Given the description of an element on the screen output the (x, y) to click on. 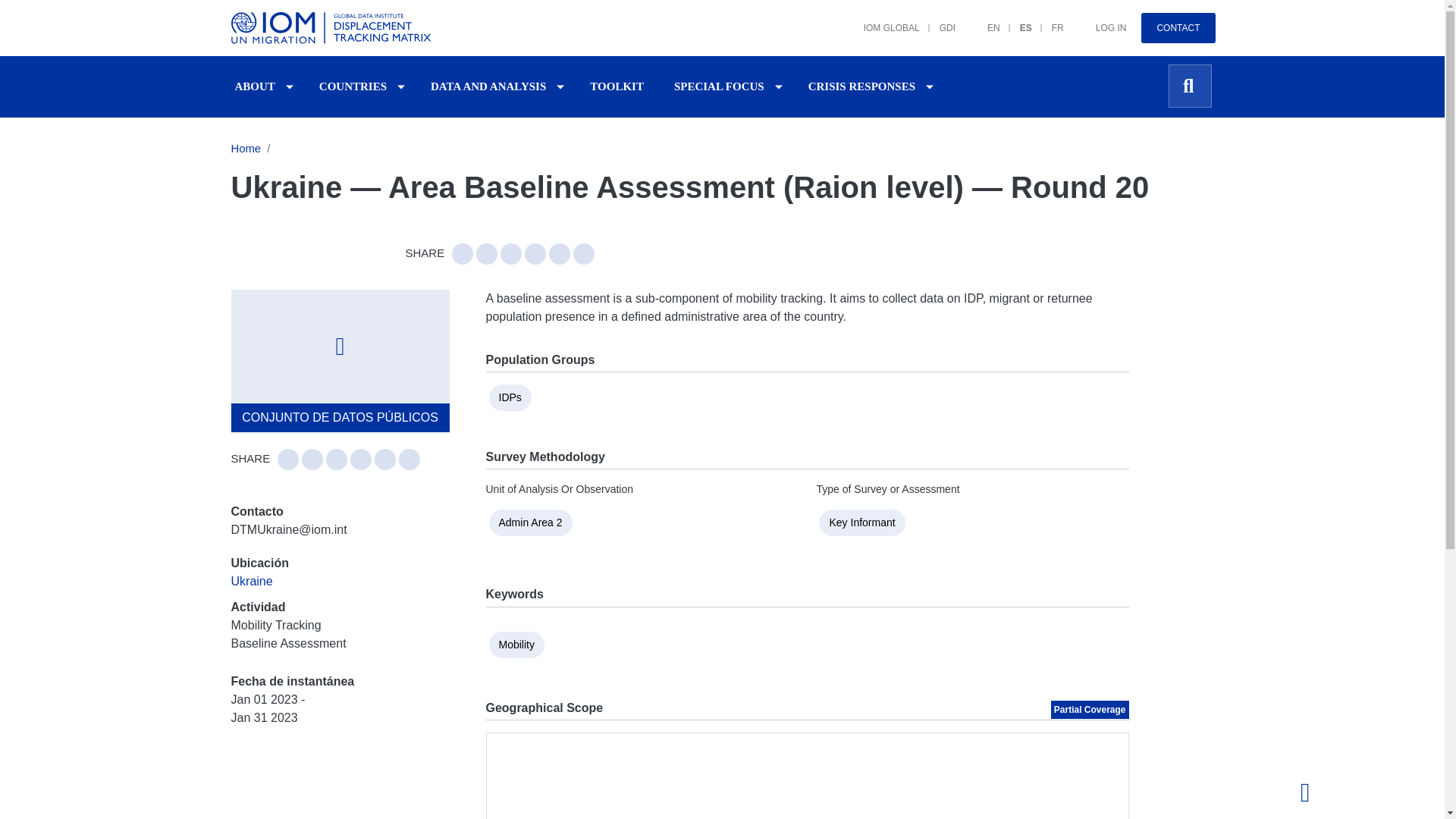
FR (1048, 19)
ABOUT (254, 86)
Toggle submenu (400, 86)
Home (333, 28)
LOG IN (1100, 19)
IOM GLOBAL (882, 19)
ES (1016, 19)
EN (984, 19)
GDI (937, 19)
CONTACT (1177, 28)
Toggle submenu (289, 86)
